Given the description of an element on the screen output the (x, y) to click on. 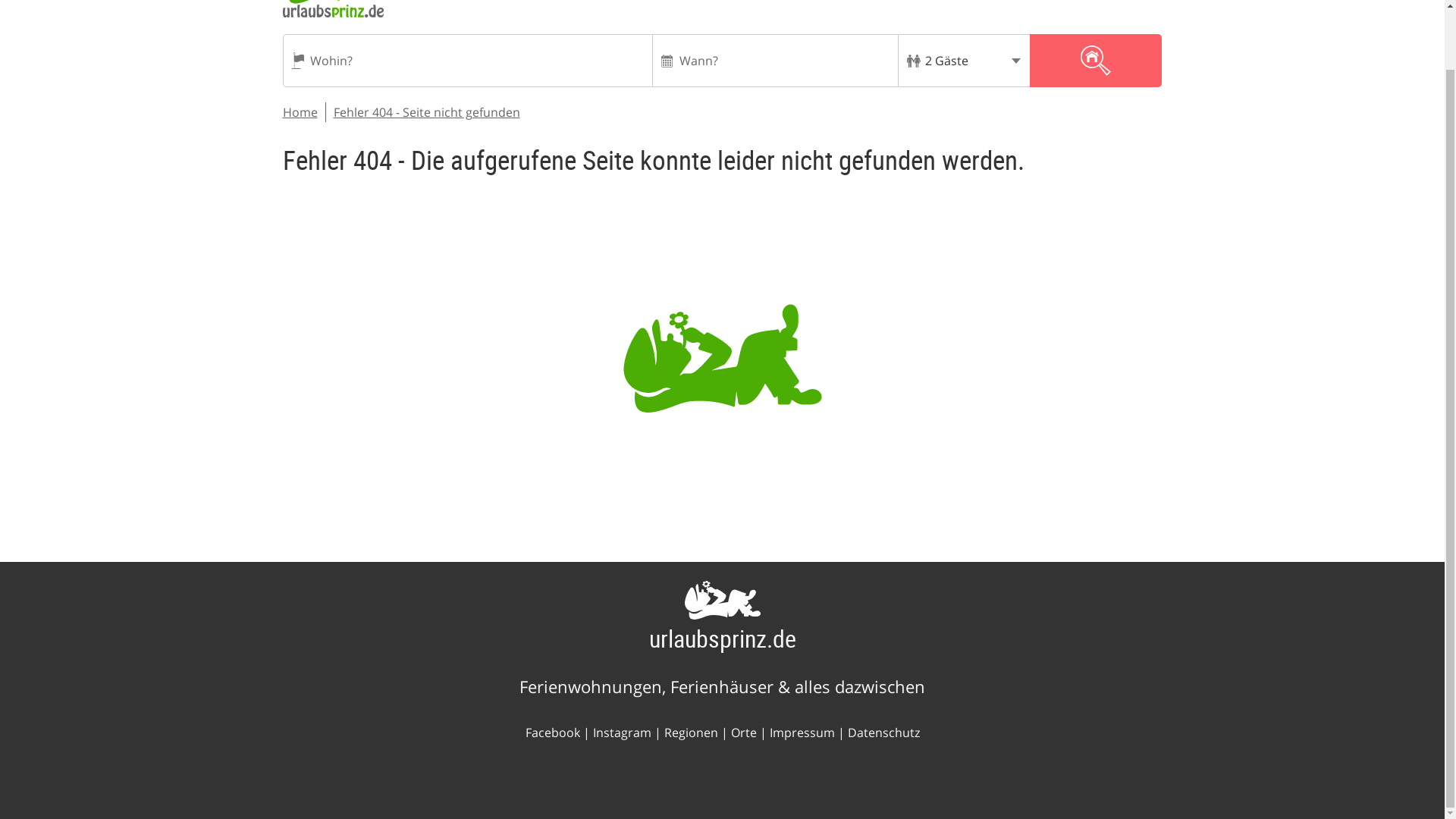
Ferienorte in Deutschland (743, 732)
Instagram (621, 732)
Datenschutz (883, 732)
Ferienregionen in Deutschland (690, 732)
Home (299, 112)
urlaubsprinz.de bei Facebook (551, 732)
Fehler 404 - Seite nicht gefunden (426, 112)
urlaubsprinz.de (722, 637)
Impressum (801, 732)
